Given the description of an element on the screen output the (x, y) to click on. 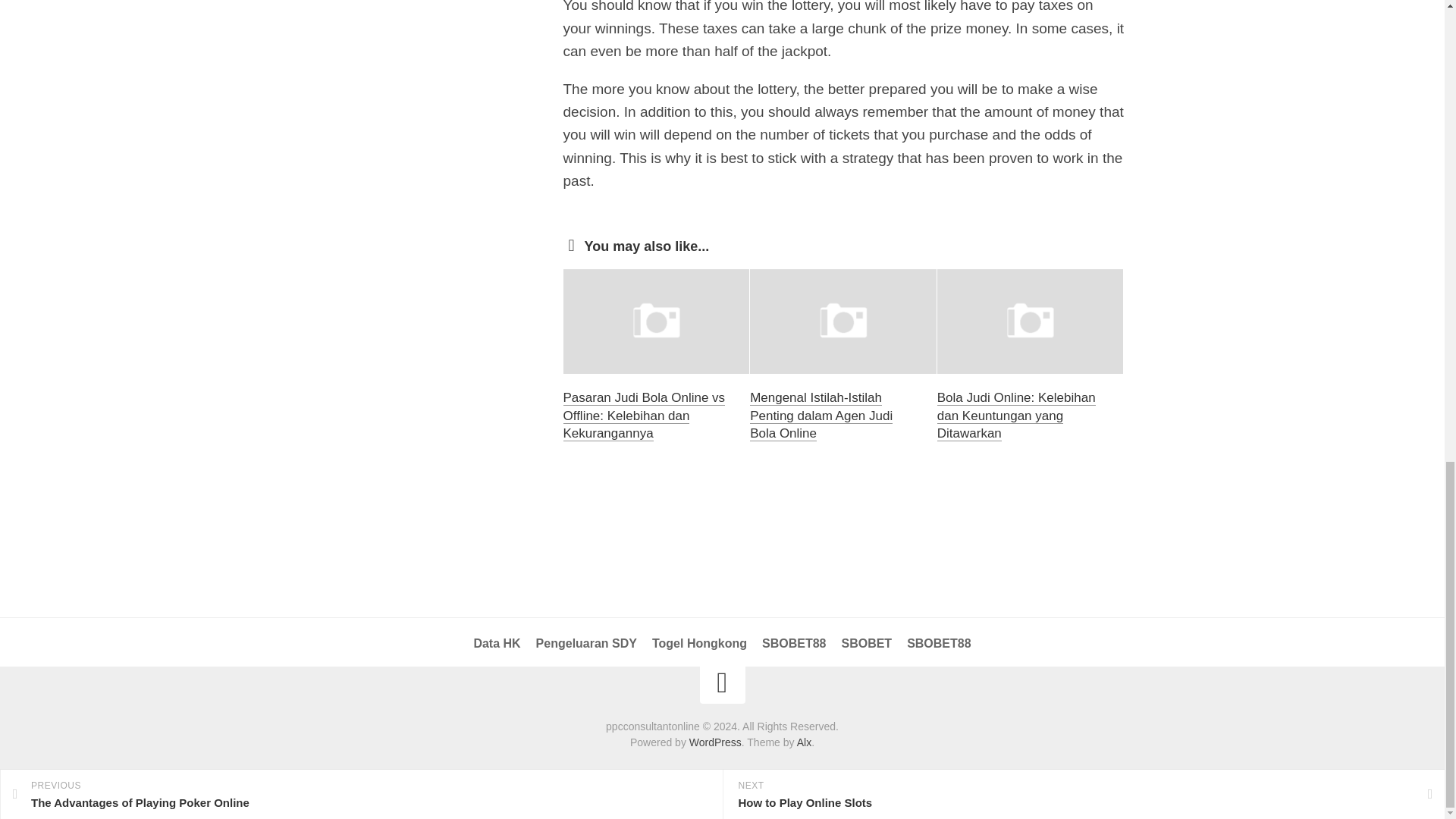
Data HK (496, 643)
Bola Judi Online: Kelebihan dan Keuntungan yang Ditawarkan (1016, 415)
Togel Hongkong (699, 643)
SBOBET88 (939, 643)
SBOBET88 (793, 643)
Mengenal Istilah-Istilah Penting dalam Agen Judi Bola Online (820, 415)
SBOBET (866, 643)
Pengeluaran SDY (586, 643)
